Given the description of an element on the screen output the (x, y) to click on. 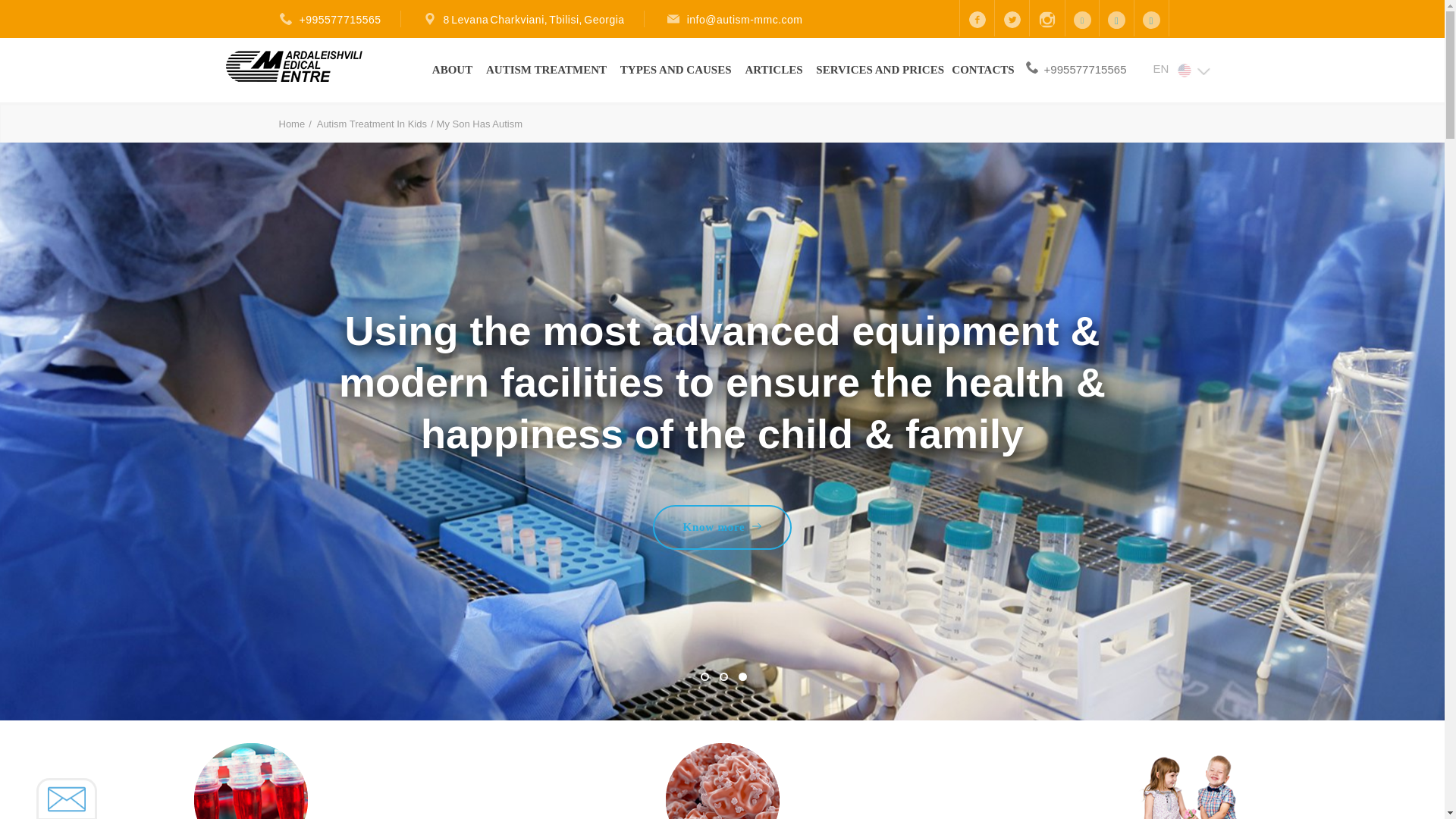
ARTICLES (774, 69)
placeholder-for-map-1 (431, 19)
ABOUT (454, 69)
AUTISM TREATMENT (548, 69)
telephone-1 (1031, 67)
black-envelope (674, 19)
TYPES AND CAUSES (677, 69)
telephone-1 (286, 19)
